Given the description of an element on the screen output the (x, y) to click on. 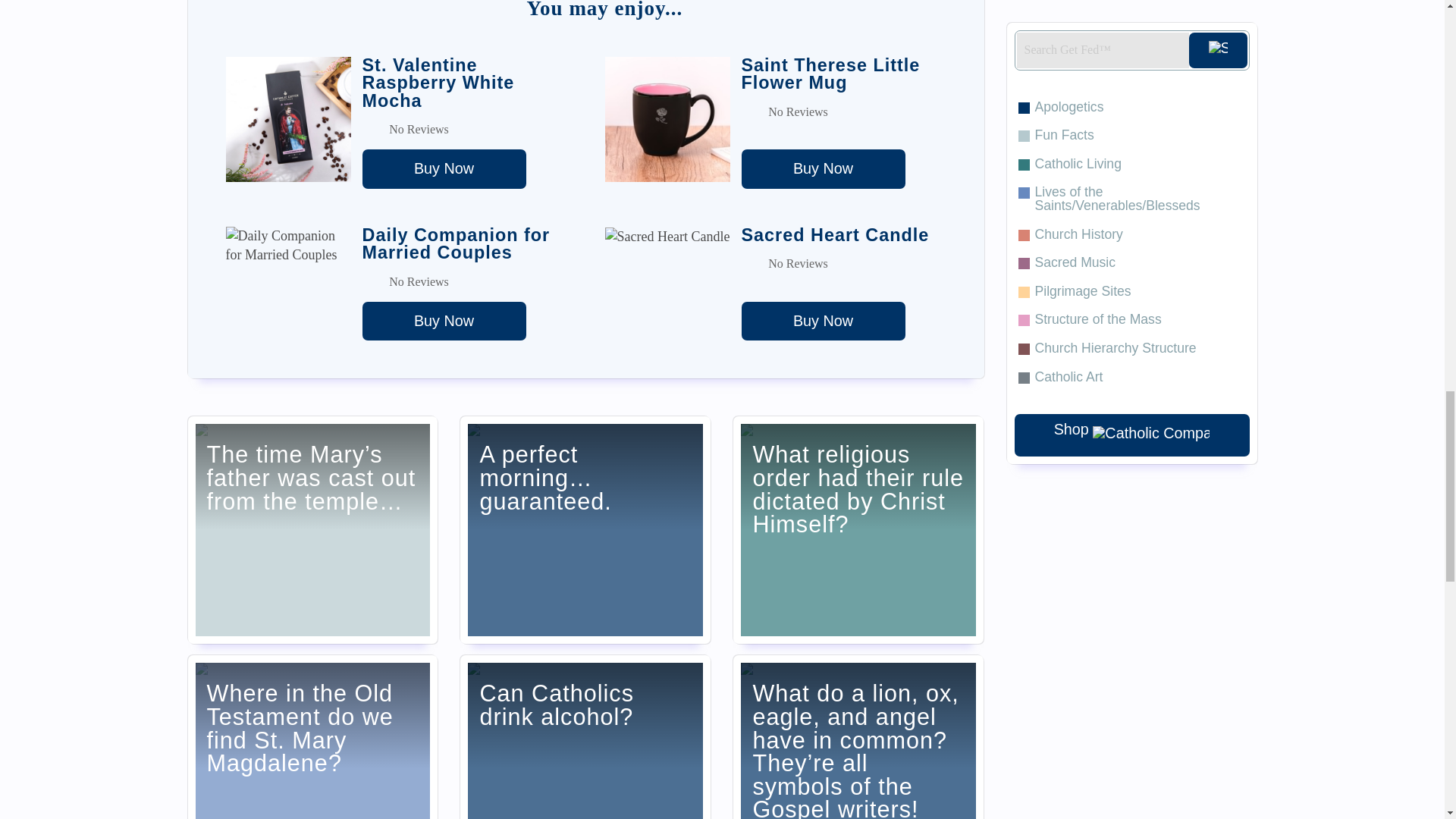
Rating of this product is 0 out of 5. (464, 282)
Buy Now (443, 169)
Sacred Heart Candle (823, 321)
Buy Now (823, 321)
Can Catholics drink alcohol? (585, 737)
Rating of this product is 0 out of 5. (464, 129)
Saint Therese Little Flower Mug (823, 169)
St. Valentine Raspberry White Mocha (443, 169)
Buy Now (823, 169)
Rating of this product is 0 out of 5. (843, 263)
Where in the Old Testament do we find St. Mary Magdalene? (312, 737)
Rating of this product is 0 out of 5. (843, 111)
Buy Now (443, 321)
Daily Companion for Married Couples (443, 321)
